Given the description of an element on the screen output the (x, y) to click on. 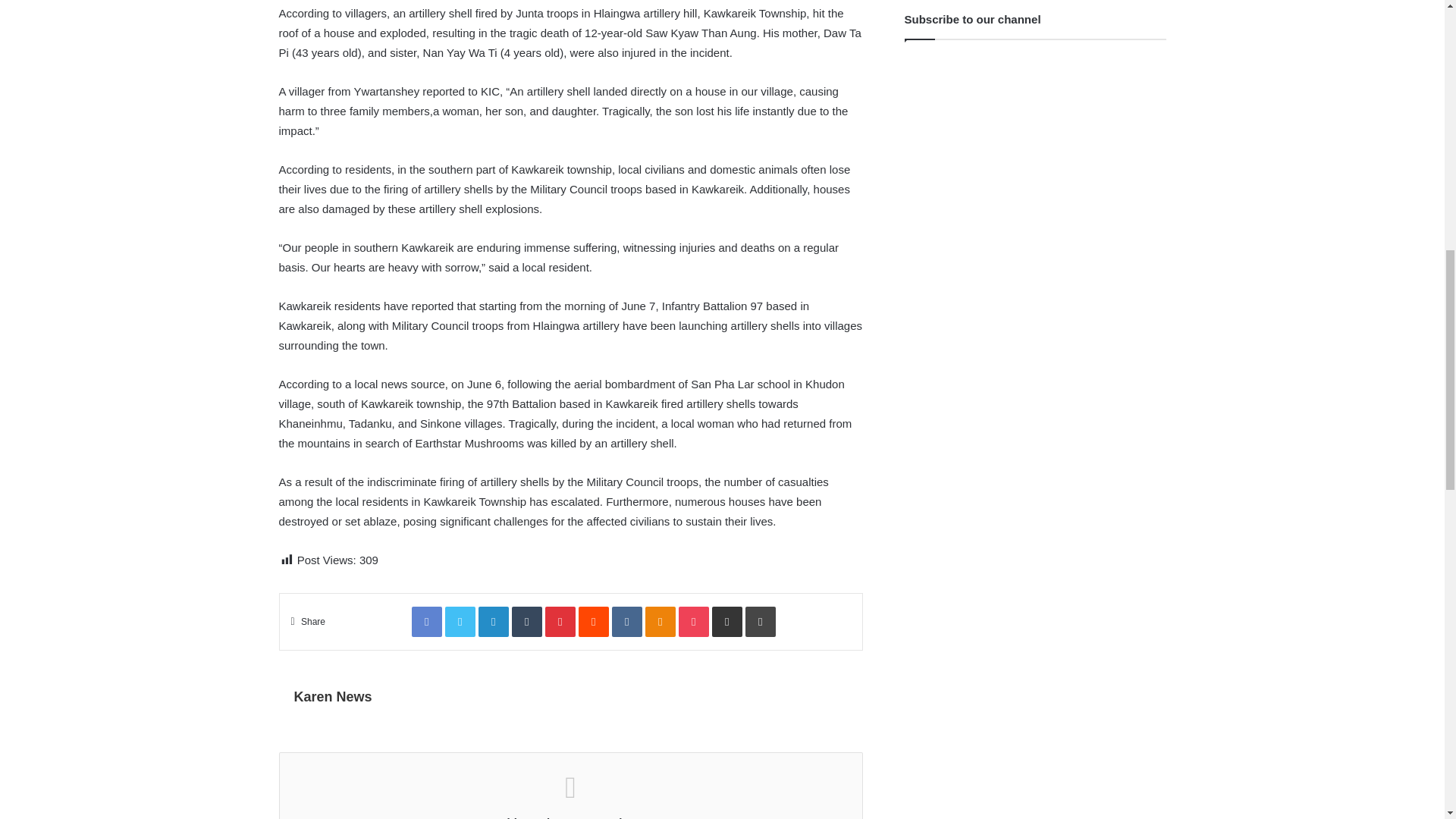
LinkedIn (493, 621)
VKontakte (626, 621)
Twitter (460, 621)
Odnoklassniki (660, 621)
Pinterest (559, 621)
Facebook (427, 621)
Reddit (593, 621)
Tumblr (526, 621)
